Given the description of an element on the screen output the (x, y) to click on. 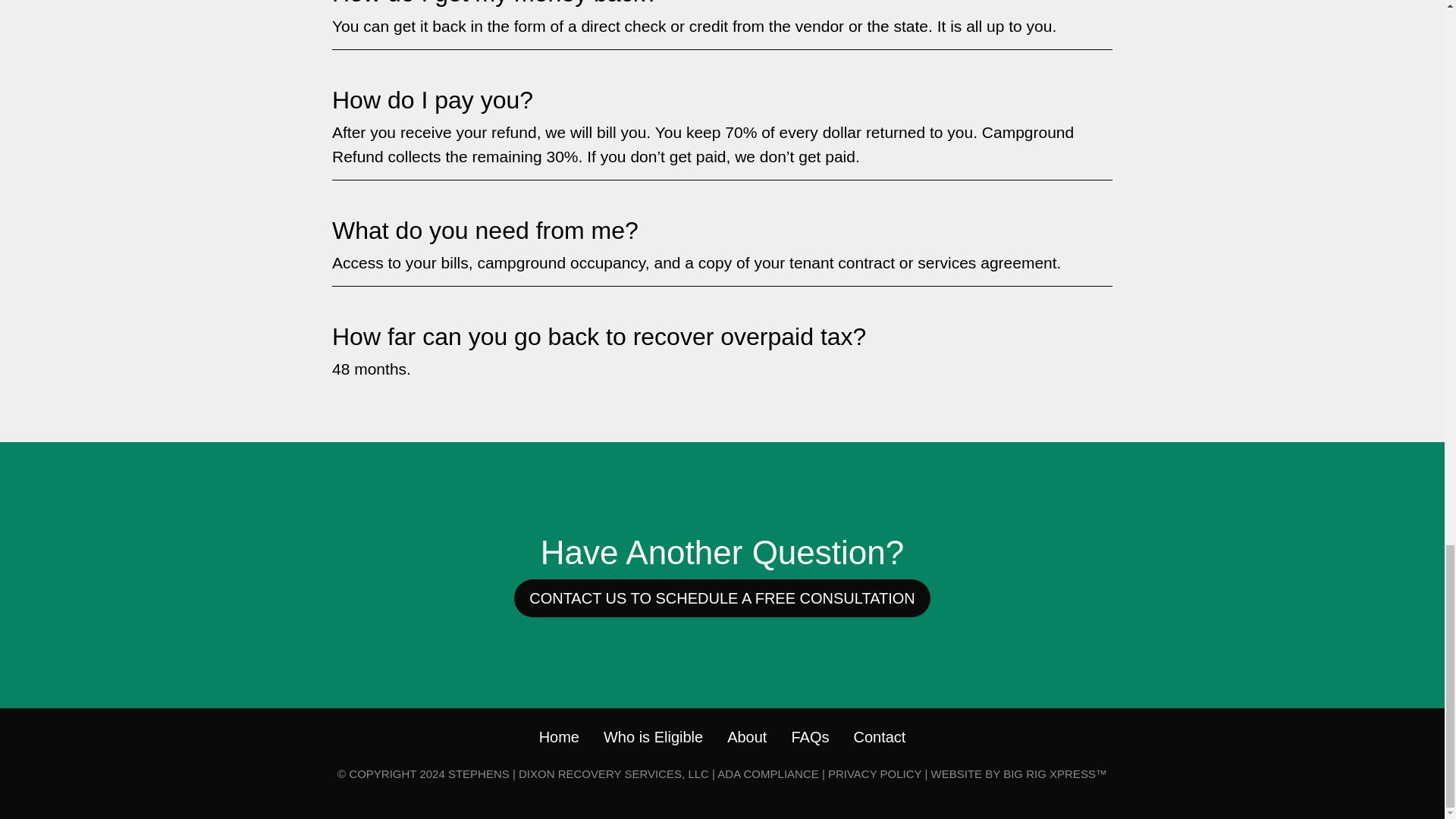
Contact (879, 736)
Home (558, 736)
CONTACT US TO SCHEDULE A FREE CONSULTATION (721, 598)
About (746, 736)
FAQs (809, 736)
PRIVACY POLICY (874, 773)
Who is Eligible (653, 736)
ADA COMPLIANCE (767, 773)
